Given the description of an element on the screen output the (x, y) to click on. 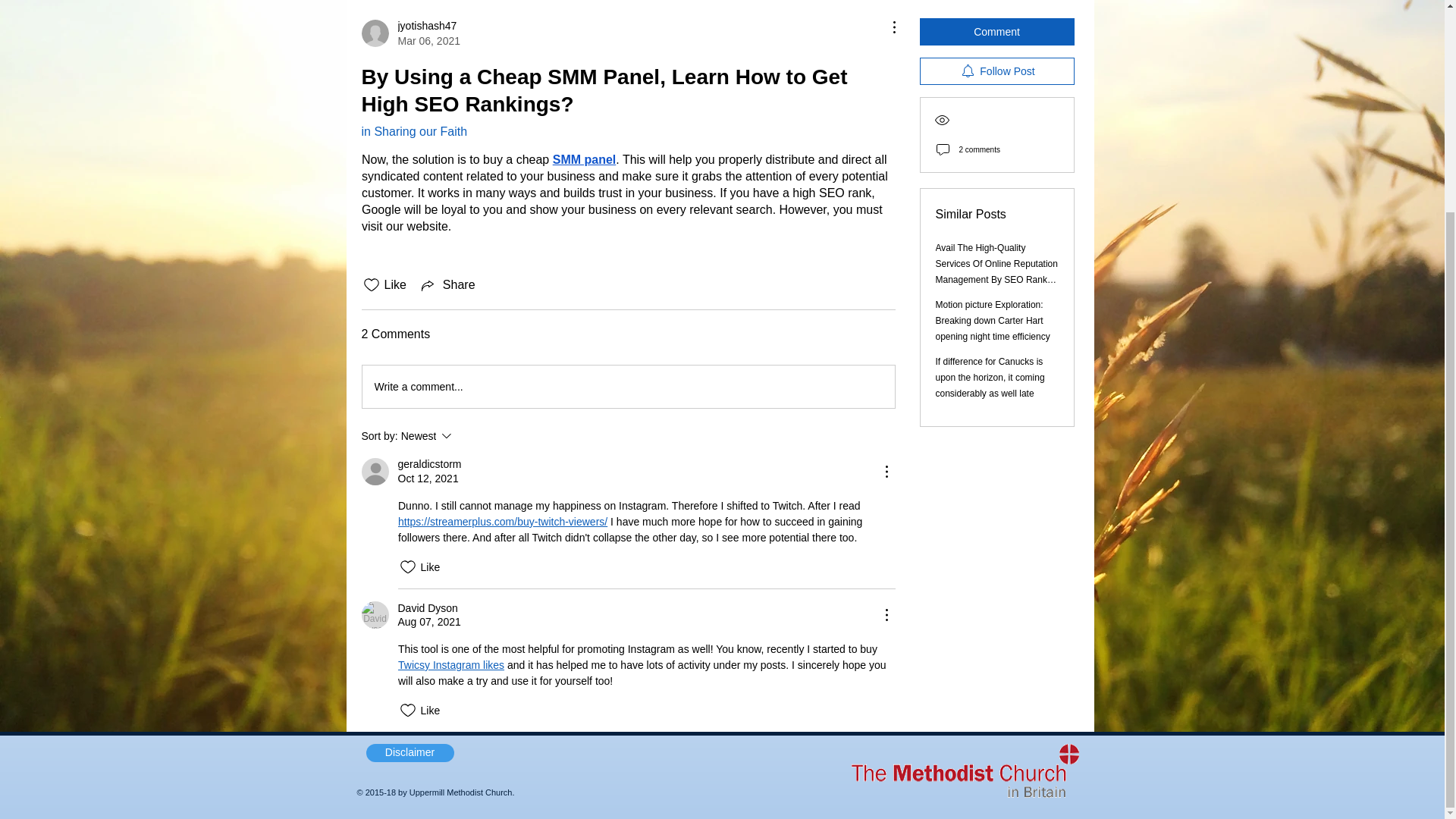
Write a comment... (628, 386)
in Sharing our Faith (414, 131)
geraldicstorm (467, 435)
David Dyson (429, 464)
Share (374, 614)
SMM panel (410, 33)
